Given the description of an element on the screen output the (x, y) to click on. 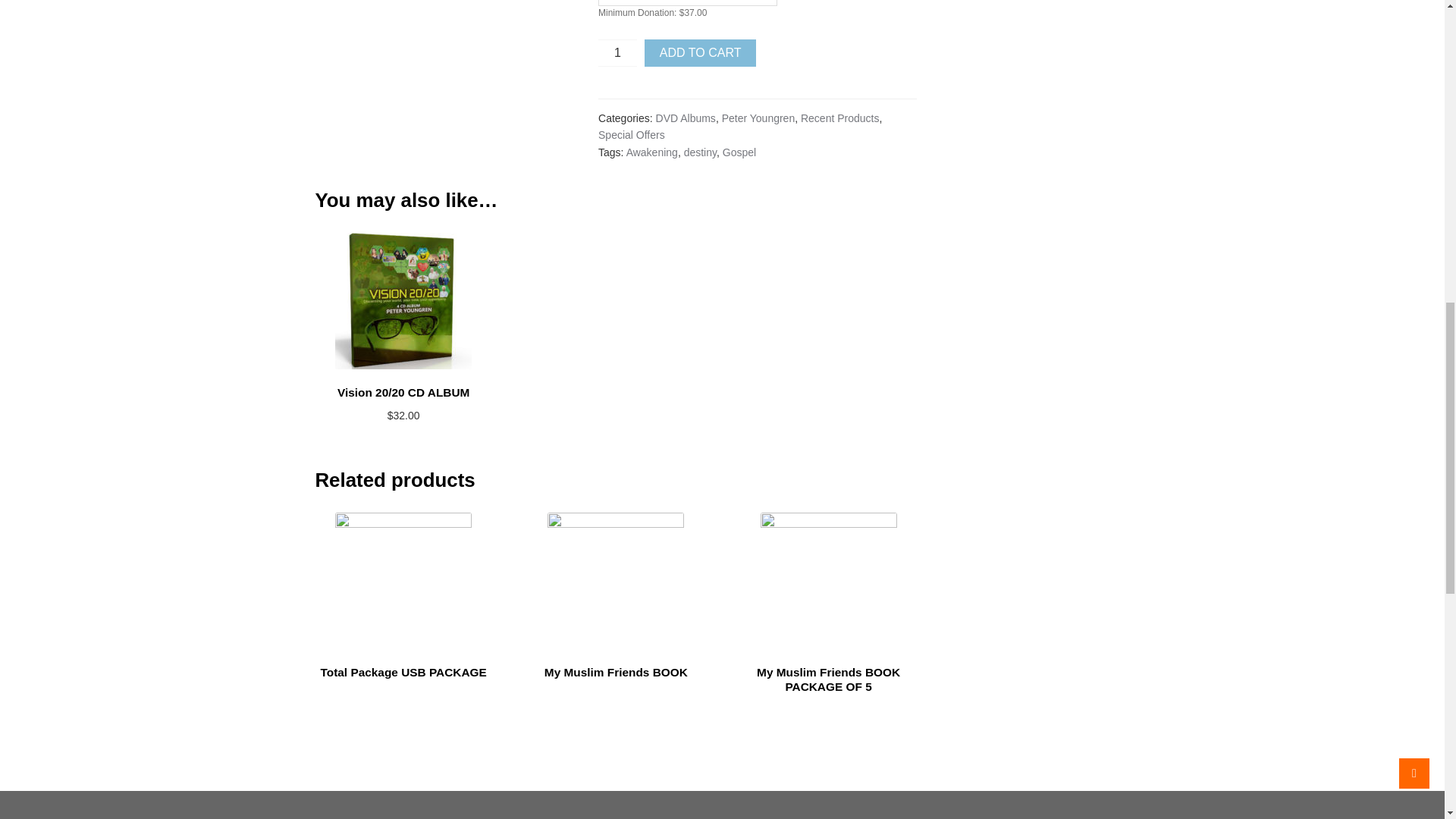
Total Package USB PACKAGE (403, 596)
Awakening (652, 152)
My Muslim Friends BOOK PACKAGE OF 5 (828, 603)
My Muslim Friends BOOK (615, 596)
Peter Youngren (758, 118)
Recent Products (839, 118)
destiny (700, 152)
Gospel (738, 152)
1 (617, 52)
Special Offers (631, 134)
DVD Albums (686, 118)
ADD TO CART (701, 52)
Qty (617, 52)
